Given the description of an element on the screen output the (x, y) to click on. 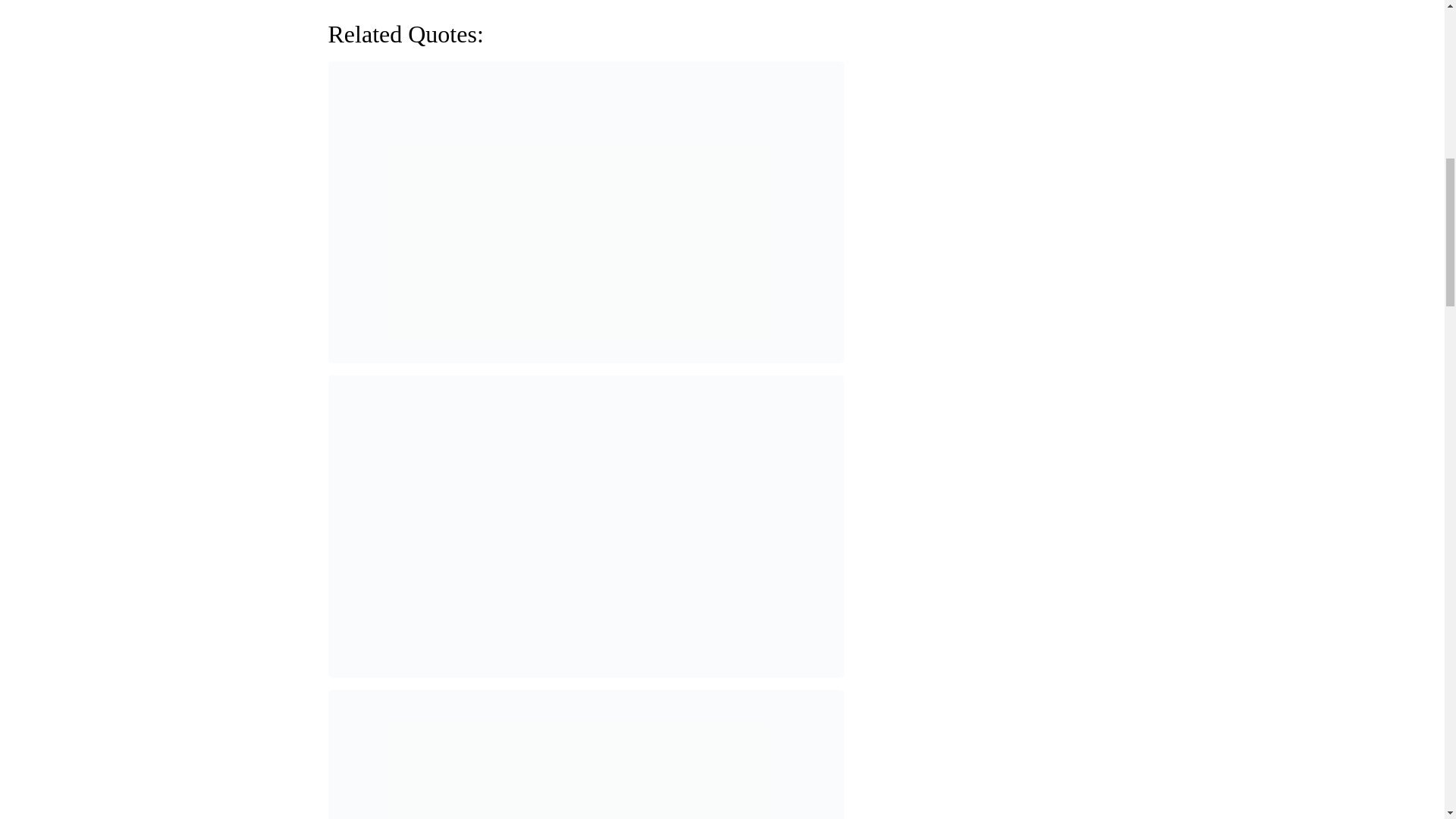
Pray hardest when it is hardest to pray. - Anonymous (585, 754)
